Given the description of an element on the screen output the (x, y) to click on. 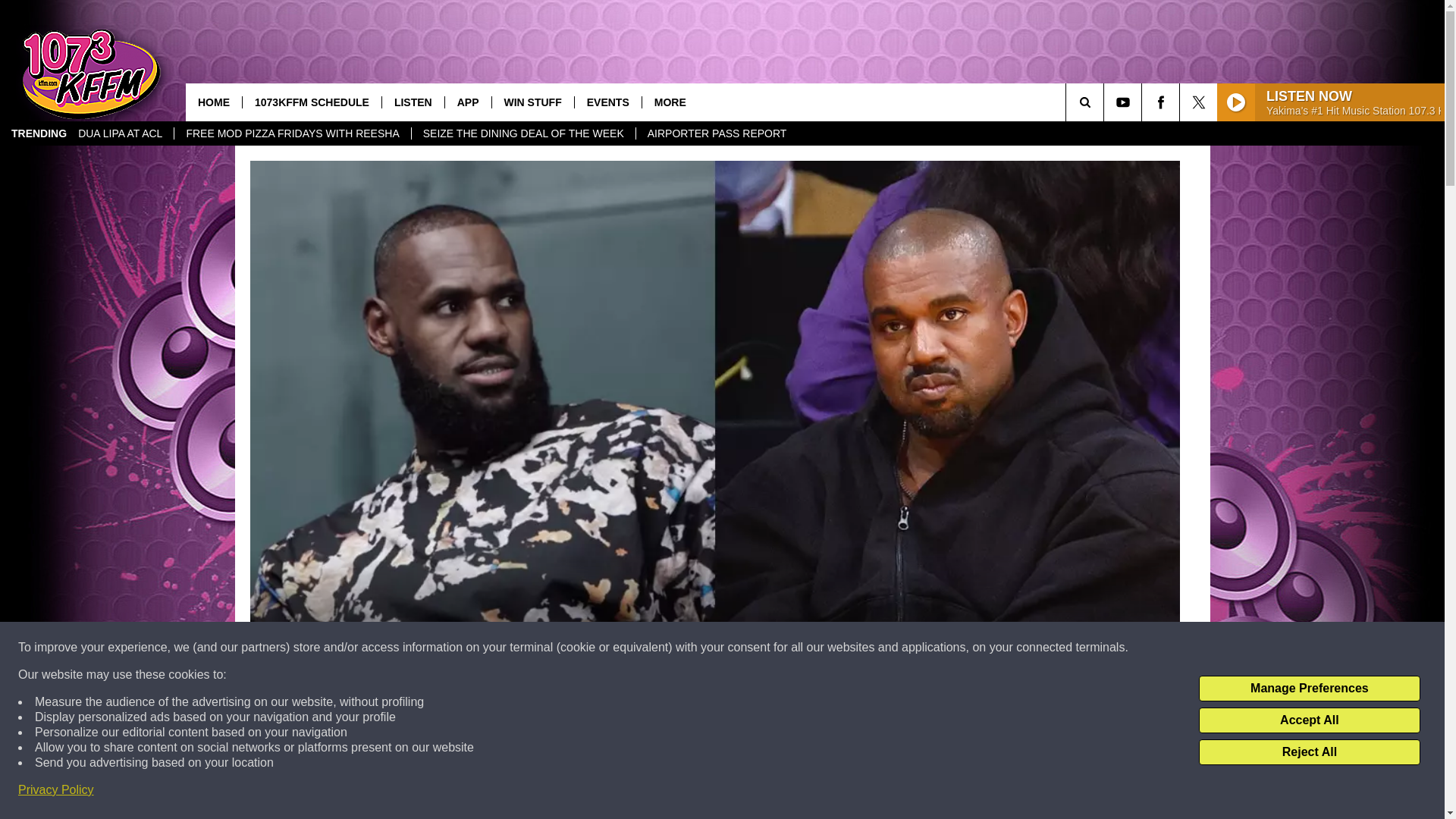
Manage Preferences (1309, 688)
1073KFFM SCHEDULE (311, 102)
WIN STUFF (532, 102)
Share on Facebook (517, 791)
Privacy Policy (55, 789)
HOME (213, 102)
SEIZE THE DINING DEAL OF THE WEEK (522, 133)
EVENTS (607, 102)
Share on Twitter (912, 791)
SEARCH (1106, 102)
DUA LIPA AT ACL (119, 133)
AIRPORTER PASS REPORT (715, 133)
Reject All (1309, 751)
APP (468, 102)
SEARCH (1106, 102)
